Given the description of an element on the screen output the (x, y) to click on. 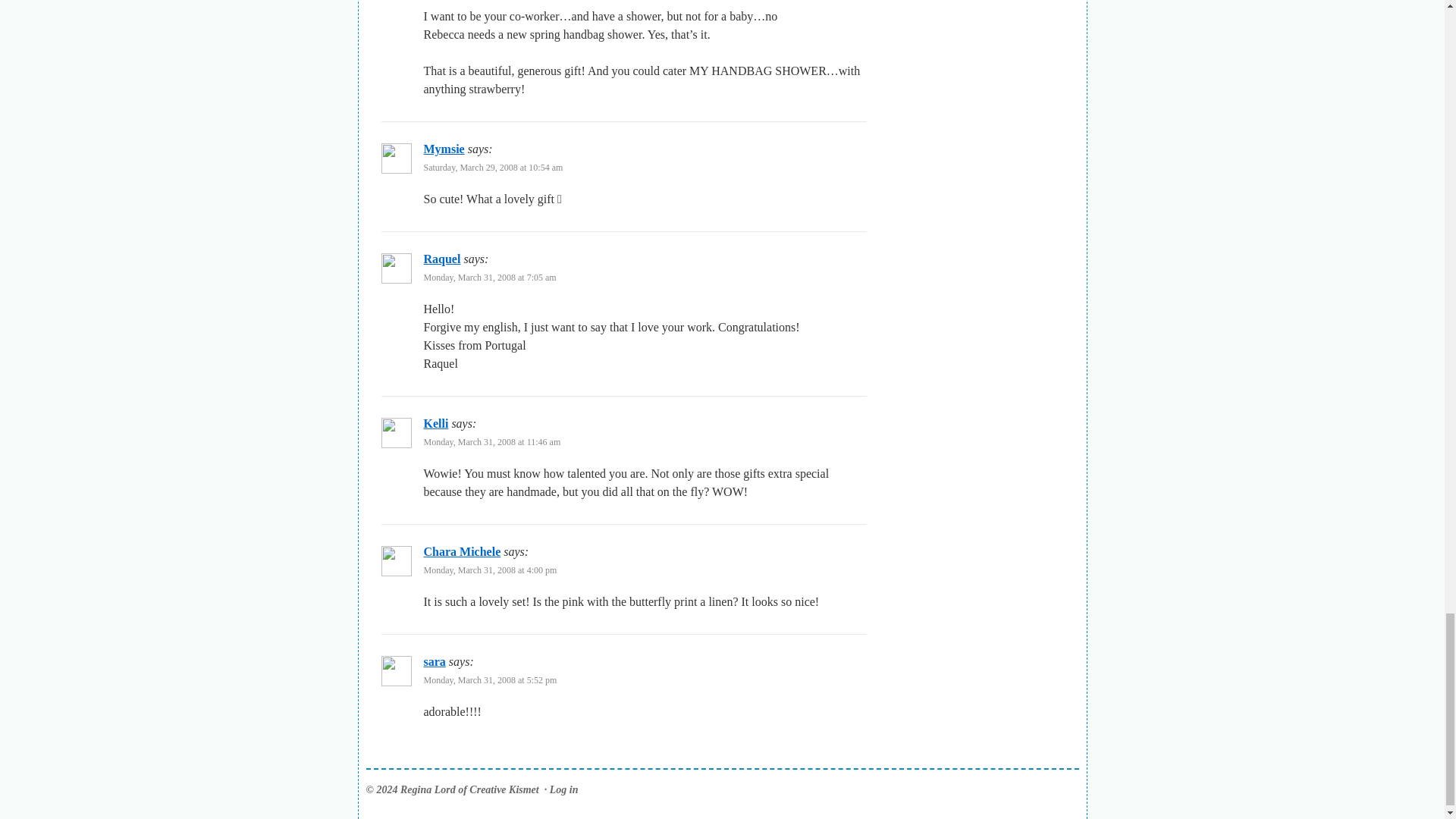
Regina Lord of Creative Kismet (451, 789)
